Given the description of an element on the screen output the (x, y) to click on. 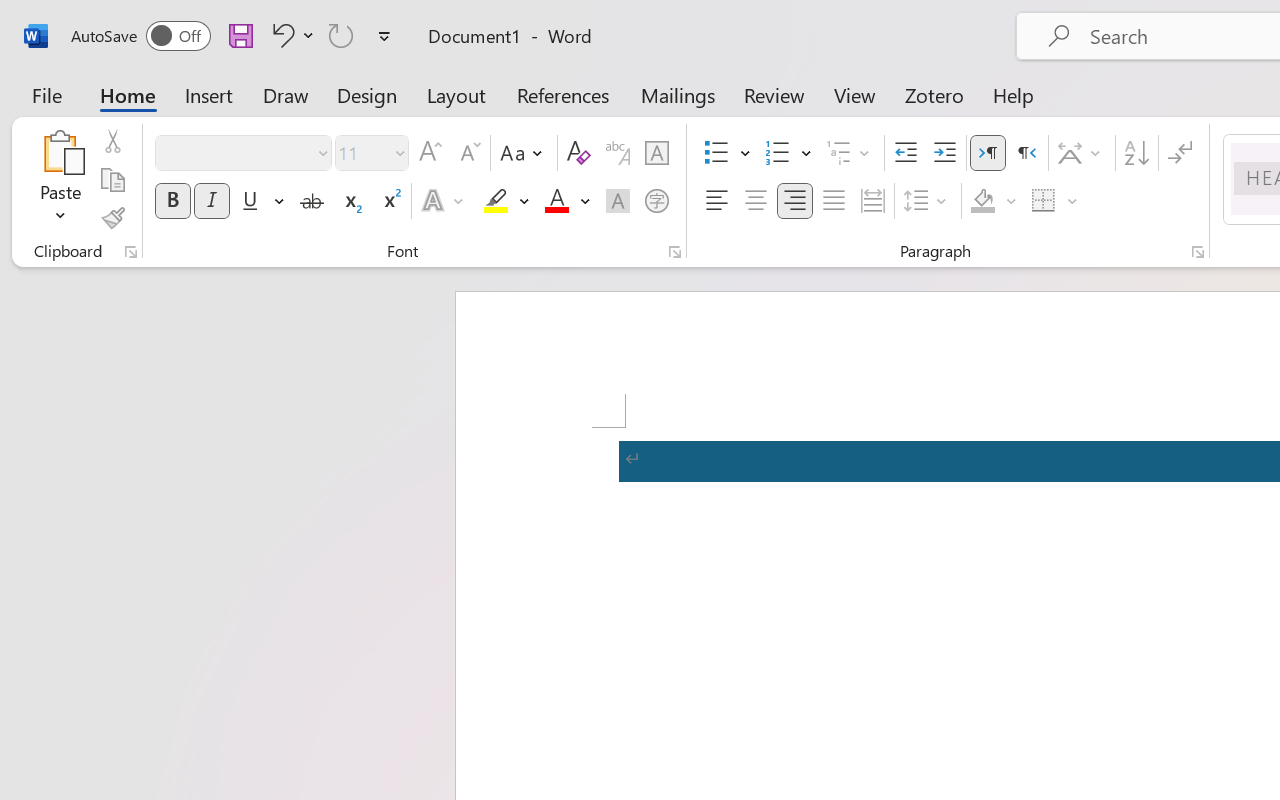
Font Color RGB(255, 0, 0) (556, 201)
Undo (290, 35)
